Given the description of an element on the screen output the (x, y) to click on. 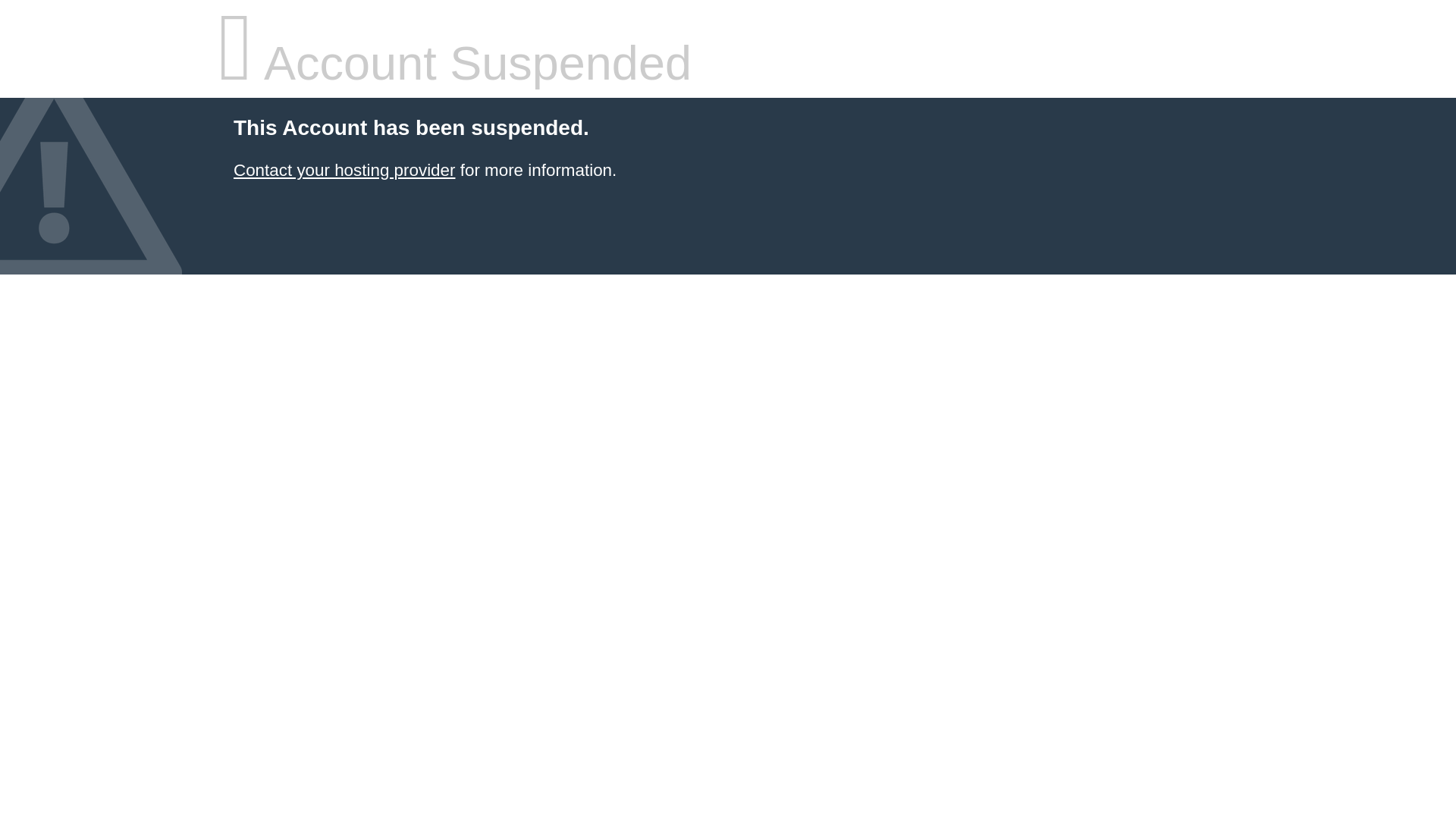
Contact your hosting provider (343, 169)
